Given the description of an element on the screen output the (x, y) to click on. 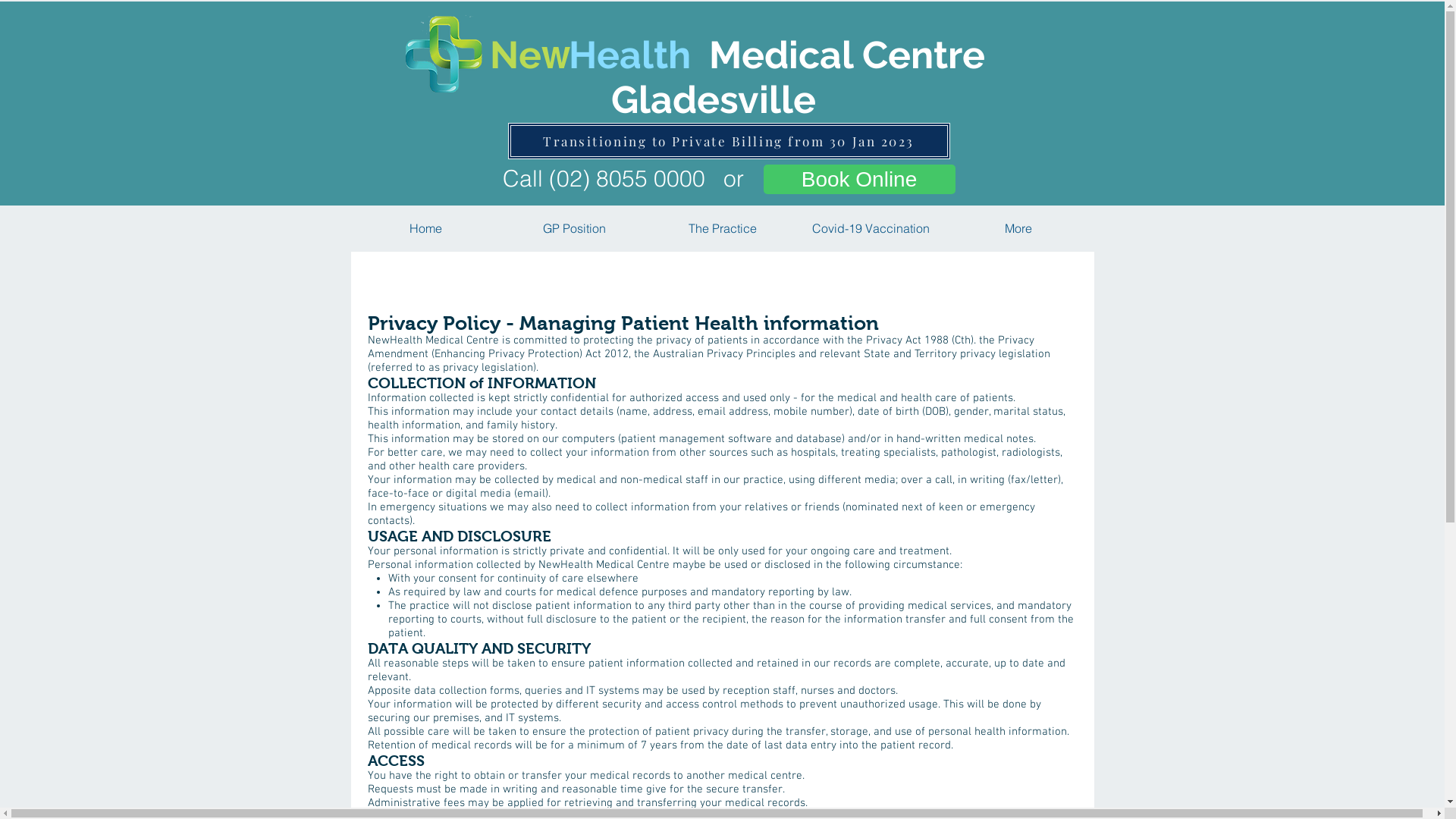
Home Element type: text (425, 228)
GP Position Element type: text (574, 228)
Covid-19 Vaccination Element type: text (870, 228)
Transitioning to Private Billing from 30 Jan 2023 Element type: text (729, 140)
Book Online Element type: text (858, 179)
The Practice Element type: text (723, 228)
